Given the description of an element on the screen output the (x, y) to click on. 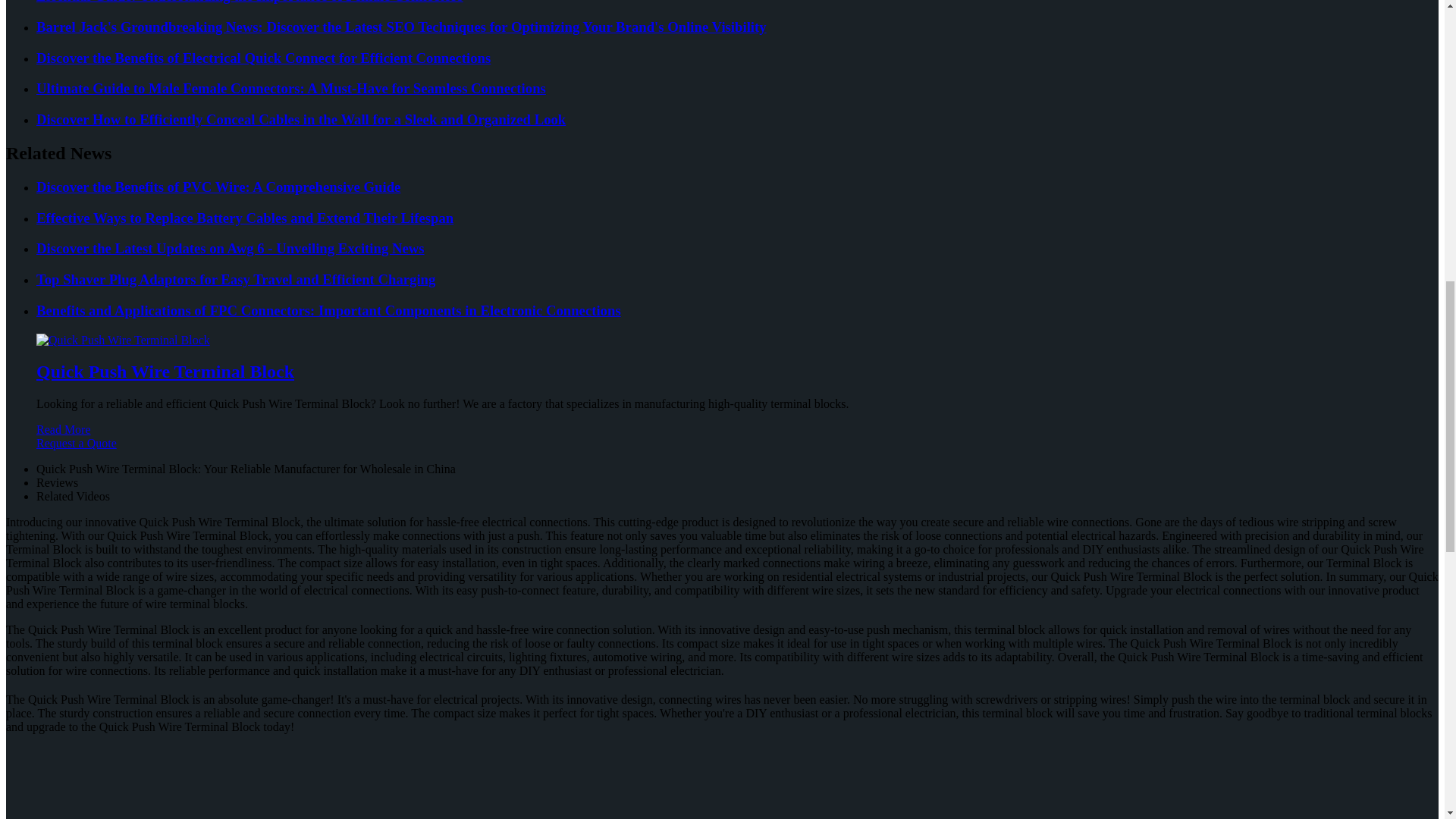
Read More (63, 429)
Request a Quote (721, 450)
Quick Push Wire Terminal Block (165, 371)
